Given the description of an element on the screen output the (x, y) to click on. 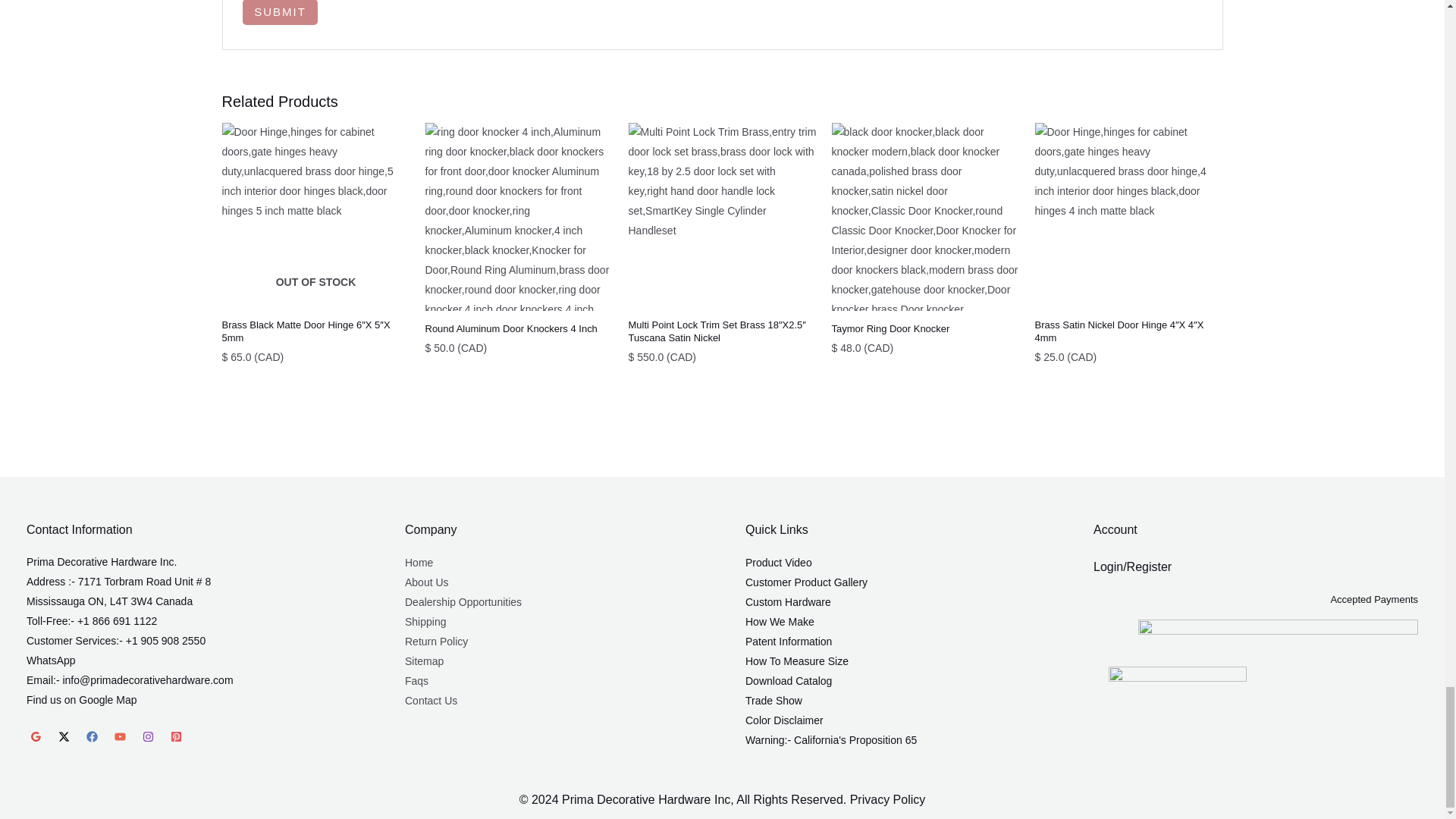
Submit (280, 12)
